Given the description of an element on the screen output the (x, y) to click on. 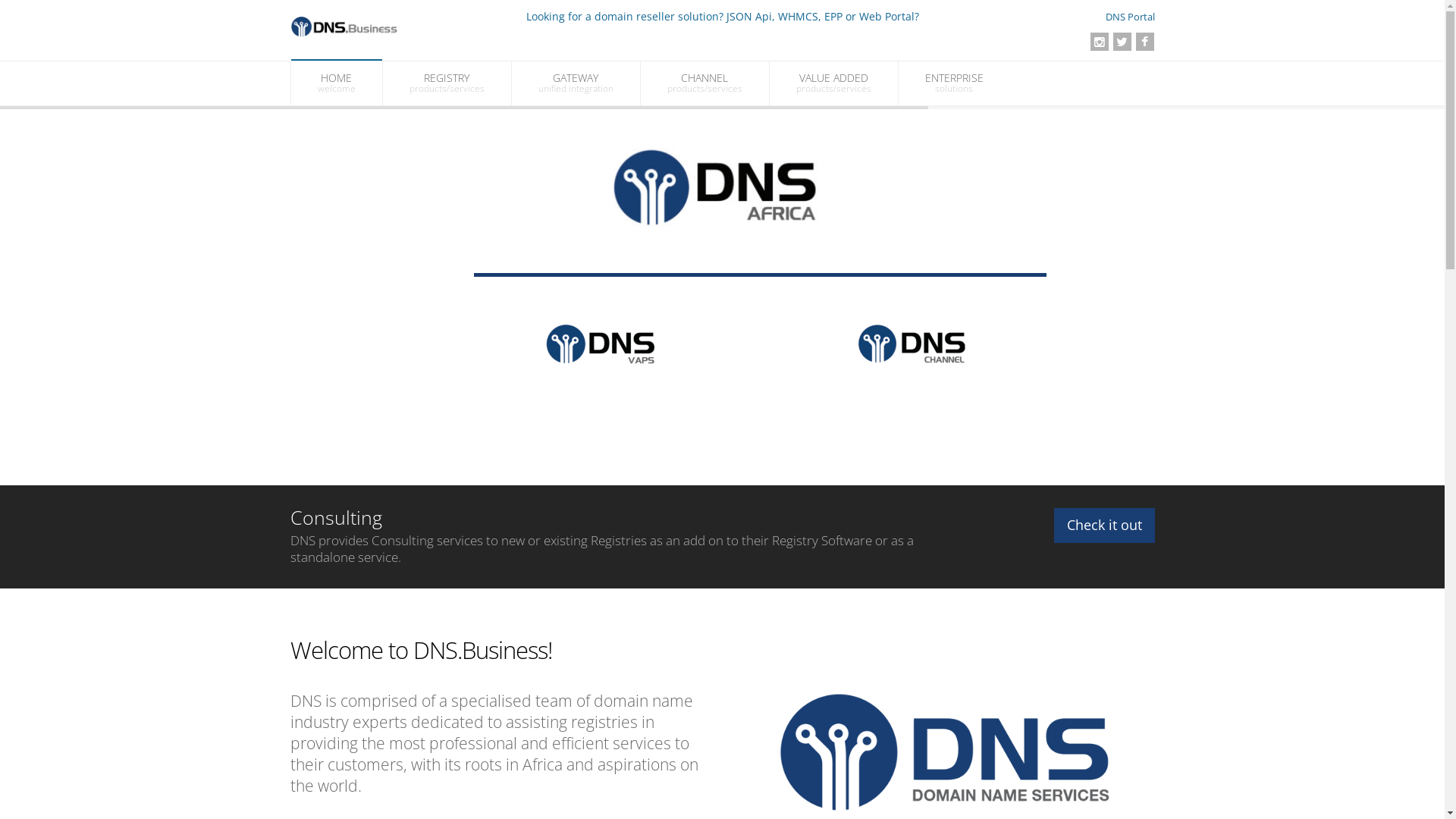
DNS Portal Element type: text (1129, 16)
REGISTRY
products/services Element type: text (446, 83)
VALUE ADDED
products/services Element type: text (832, 83)
ENTERPRISE
solutions Element type: text (953, 83)
CHANNEL
products/services Element type: text (704, 83)
GATEWAY
unified integration Element type: text (575, 83)
HOME
welcome Element type: text (336, 83)
Check it out Element type: text (1104, 525)
